Given the description of an element on the screen output the (x, y) to click on. 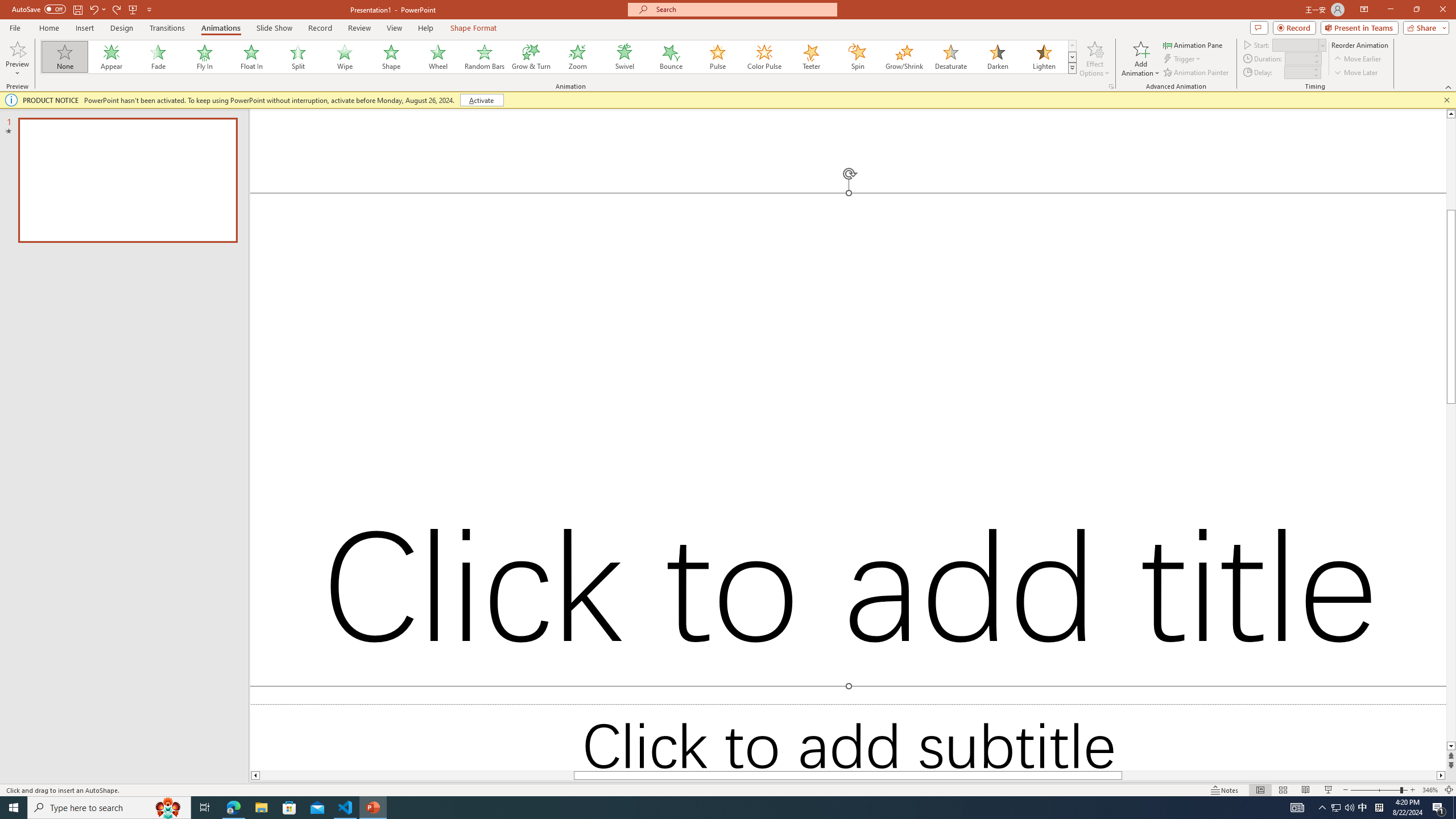
Activate (481, 100)
Color Pulse (764, 56)
Swivel (624, 56)
Grow & Turn (531, 56)
Close this message (1446, 99)
Shape (391, 56)
